Given the description of an element on the screen output the (x, y) to click on. 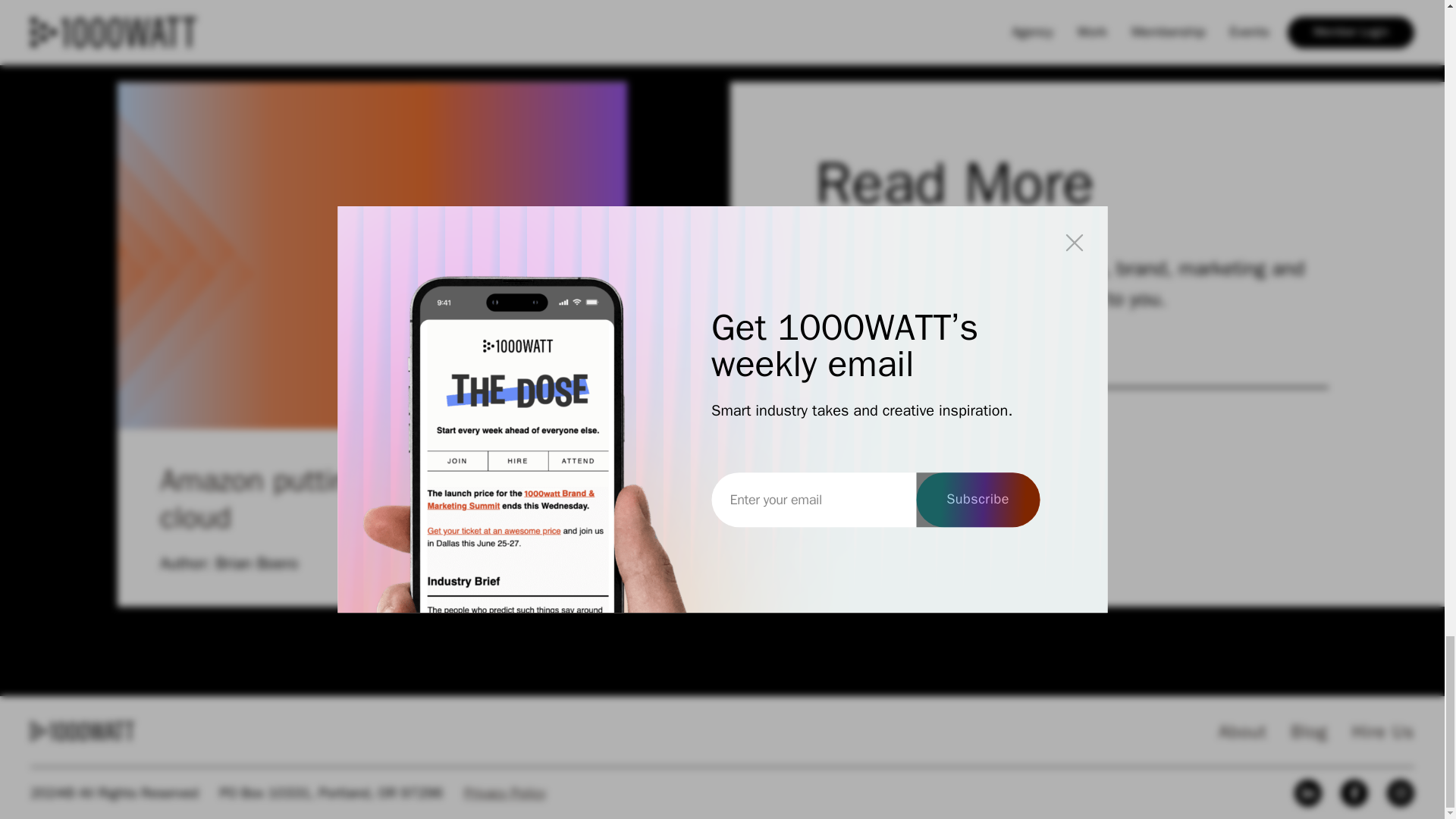
Count me in (879, 446)
Hire Us (1382, 731)
Privacy Policy (505, 791)
About (879, 446)
Blog (1242, 731)
